Given the description of an element on the screen output the (x, y) to click on. 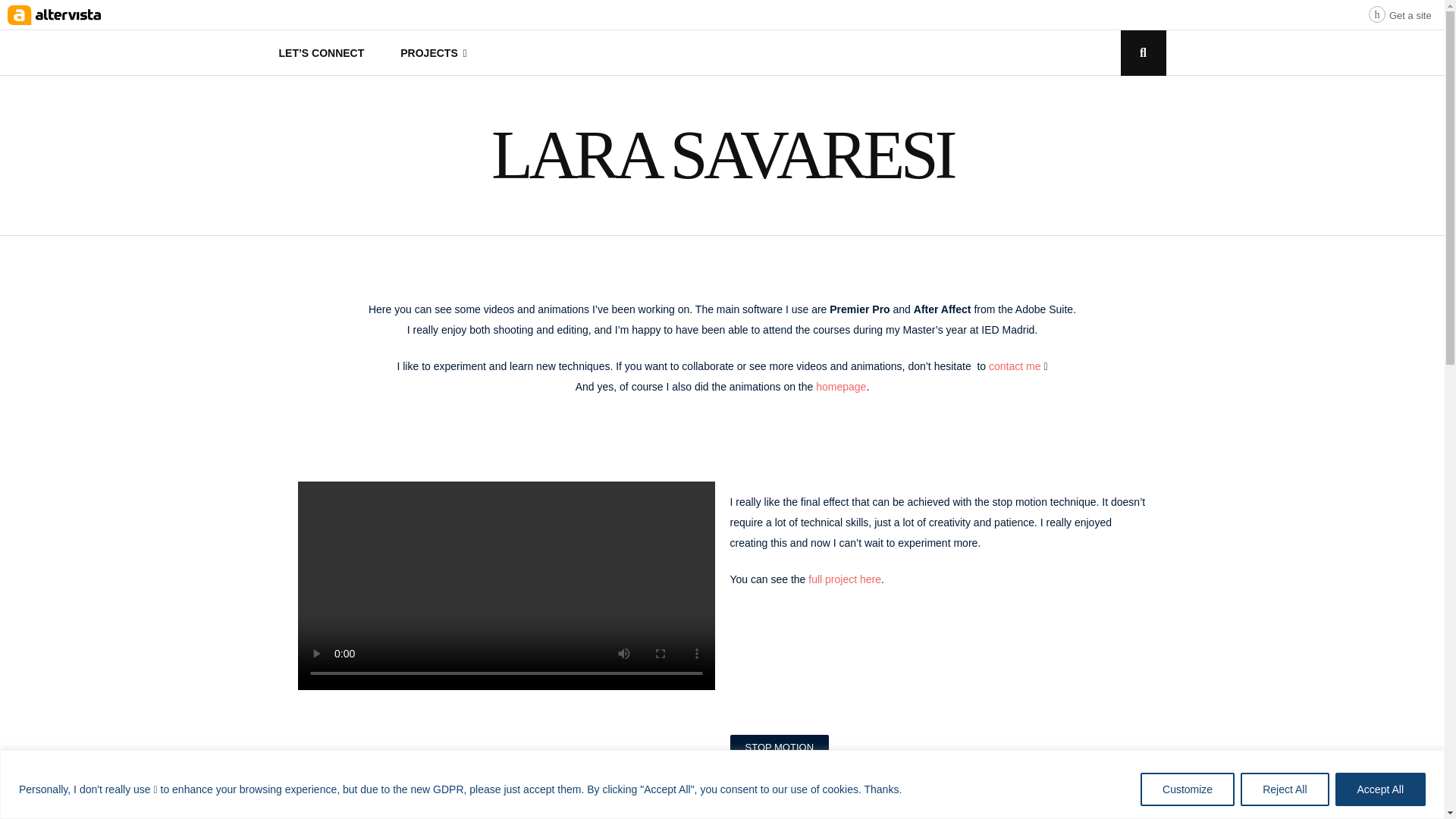
Reject All (1283, 788)
LARA SAVARESI (722, 154)
homepage (840, 386)
Customize (1187, 788)
STOP MOTION (778, 747)
Accept All (1380, 788)
full project here (844, 579)
contact me (1014, 366)
Get a site (1399, 11)
How to create a blog for free (1399, 11)
